Given the description of an element on the screen output the (x, y) to click on. 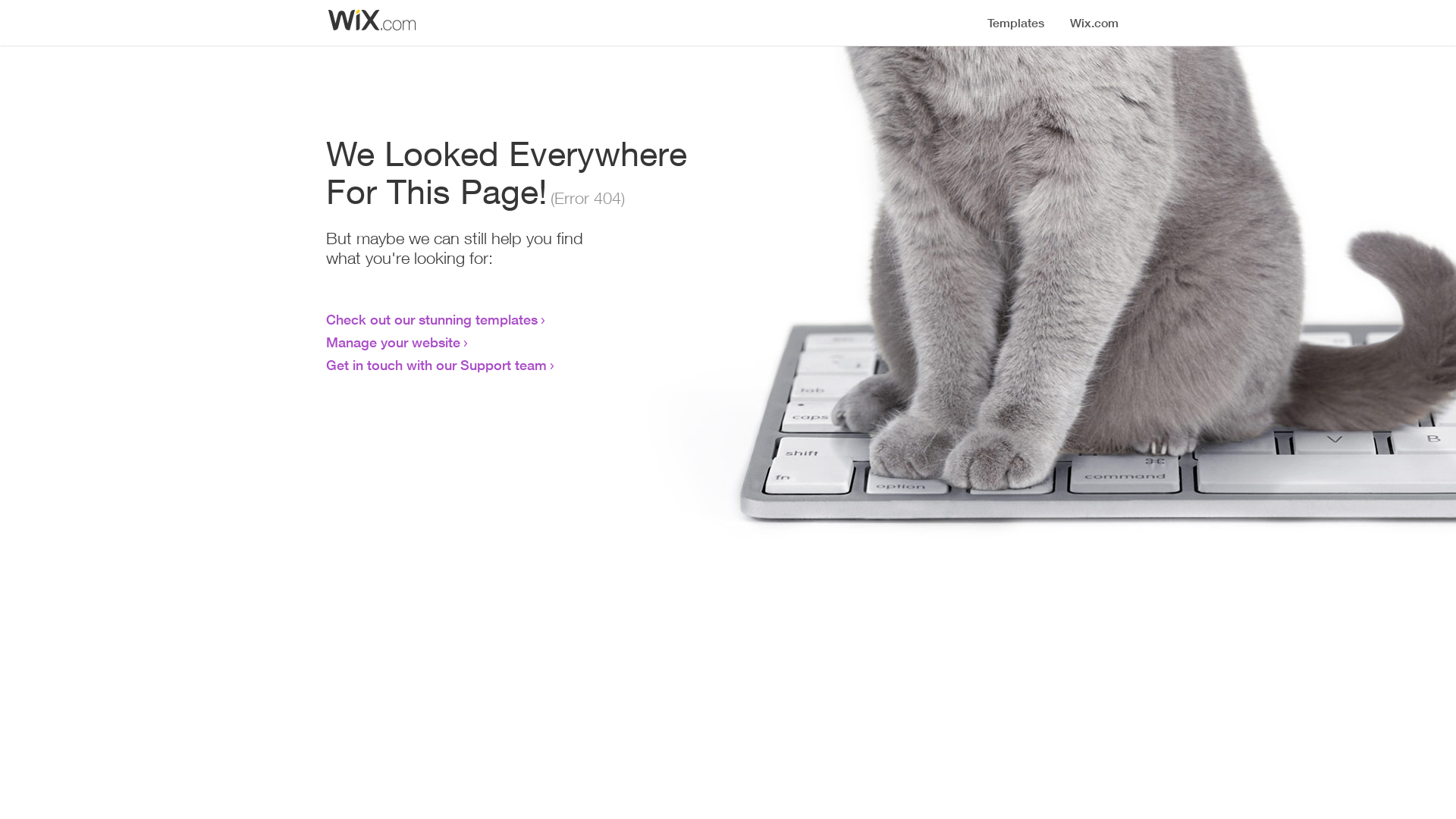
Check out our stunning templates Element type: text (431, 318)
Manage your website Element type: text (393, 341)
Get in touch with our Support team Element type: text (436, 364)
